Given the description of an element on the screen output the (x, y) to click on. 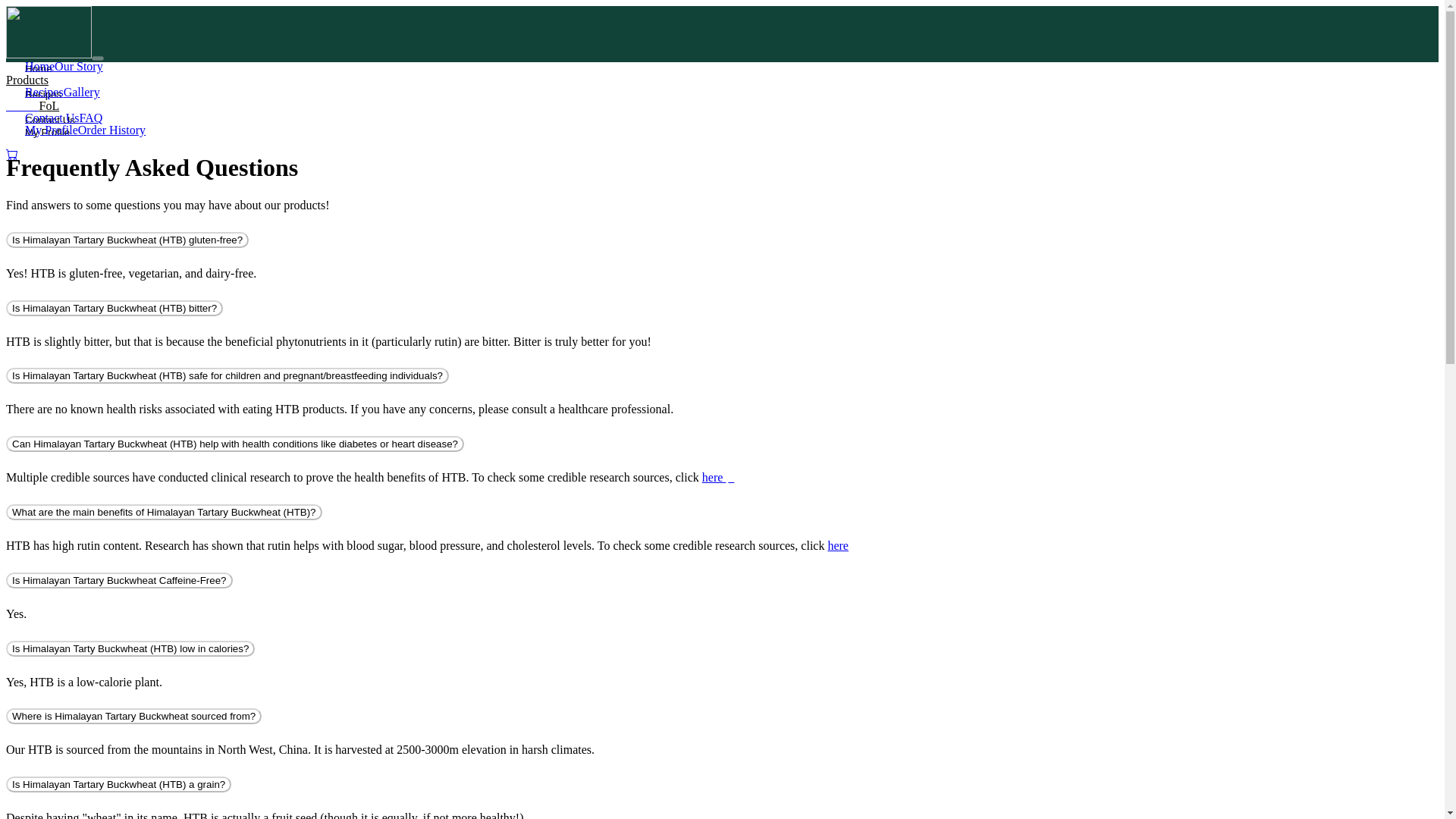
Gallery (82, 91)
Is Himalayan Tartary Buckwheat Caffeine-Free? (118, 580)
FAQ (91, 117)
My Profile (46, 132)
My Profile (51, 129)
here (837, 545)
Products (26, 79)
FoL (49, 105)
Order History (111, 129)
Home (38, 68)
